Given the description of an element on the screen output the (x, y) to click on. 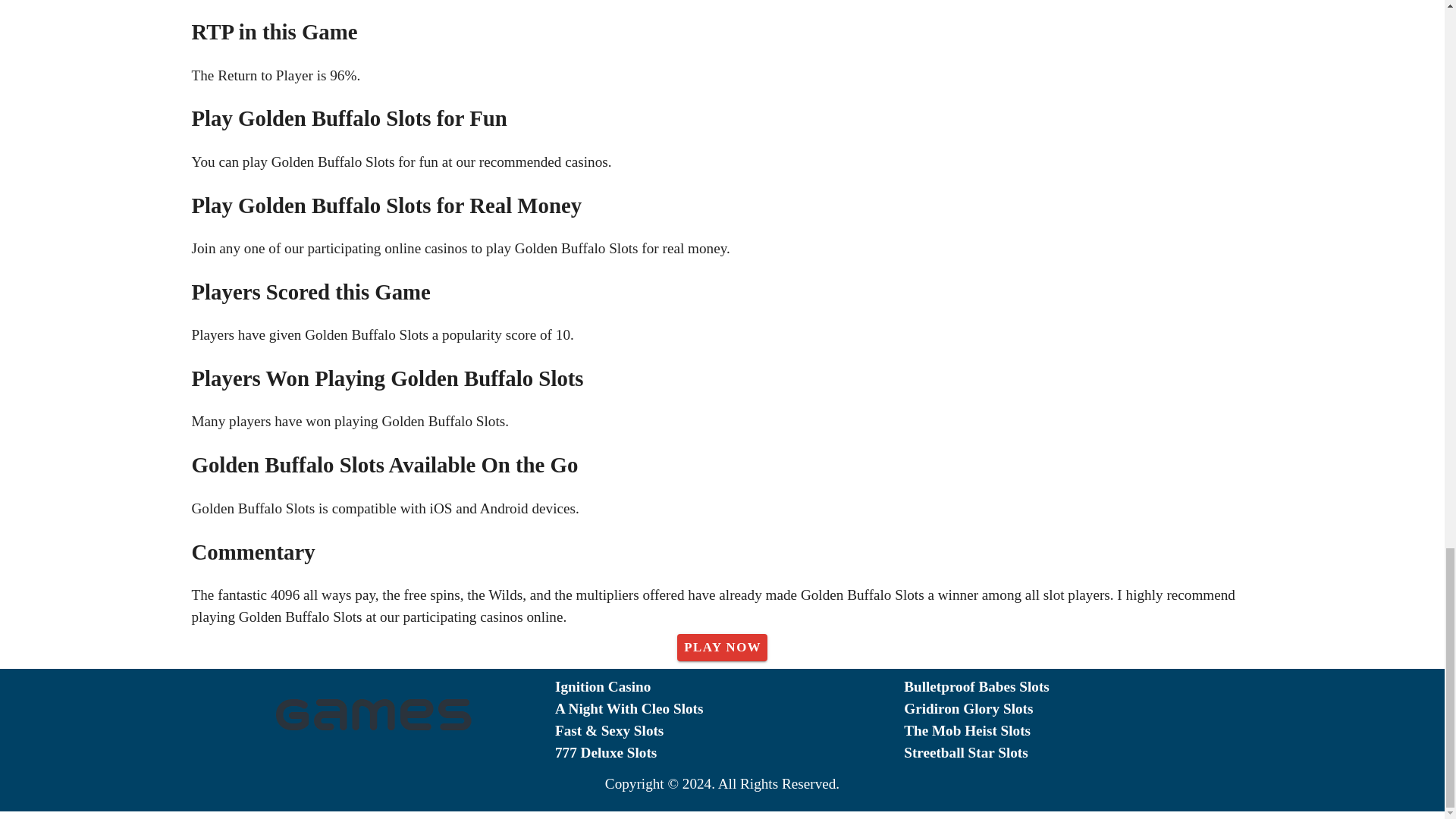
Streetball Star Slots (1078, 753)
777 Deluxe Slots (729, 753)
The Mob Heist Slots (1078, 731)
Bulletproof Babes Slots (1078, 687)
Gridiron Glory Slots (1078, 709)
A Night With Cleo Slots (729, 709)
PLAY NOW (722, 646)
Ignition Casino (729, 687)
